Given the description of an element on the screen output the (x, y) to click on. 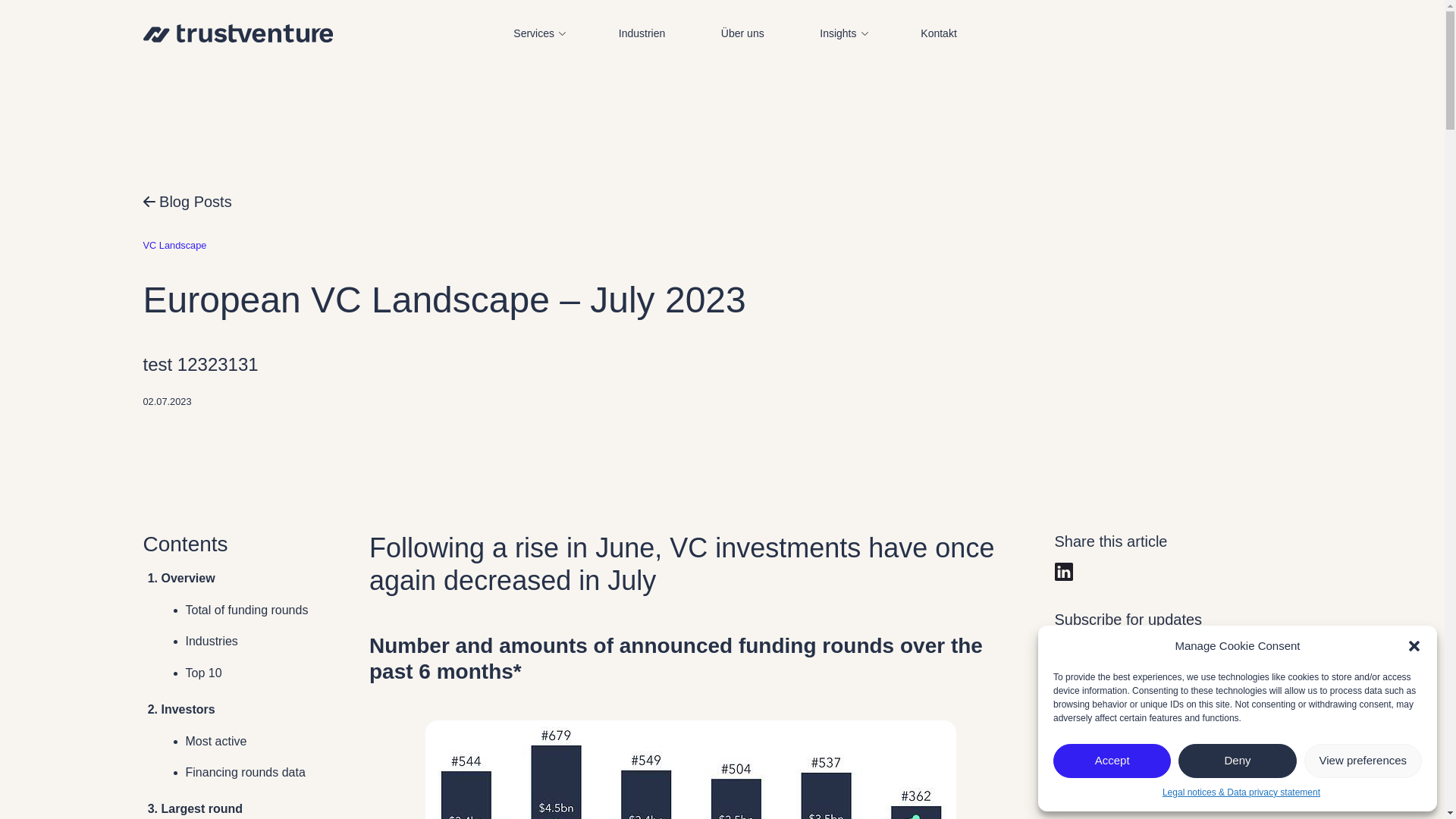
Insights (842, 33)
View preferences (1363, 760)
Kontakt (939, 33)
Industries (210, 640)
Deny (1236, 760)
Industrien (642, 33)
Accept (1111, 760)
Total of funding rounds (245, 609)
VC Landscape (174, 244)
Overview (187, 577)
Blog Posts (186, 201)
Services (536, 33)
